Given the description of an element on the screen output the (x, y) to click on. 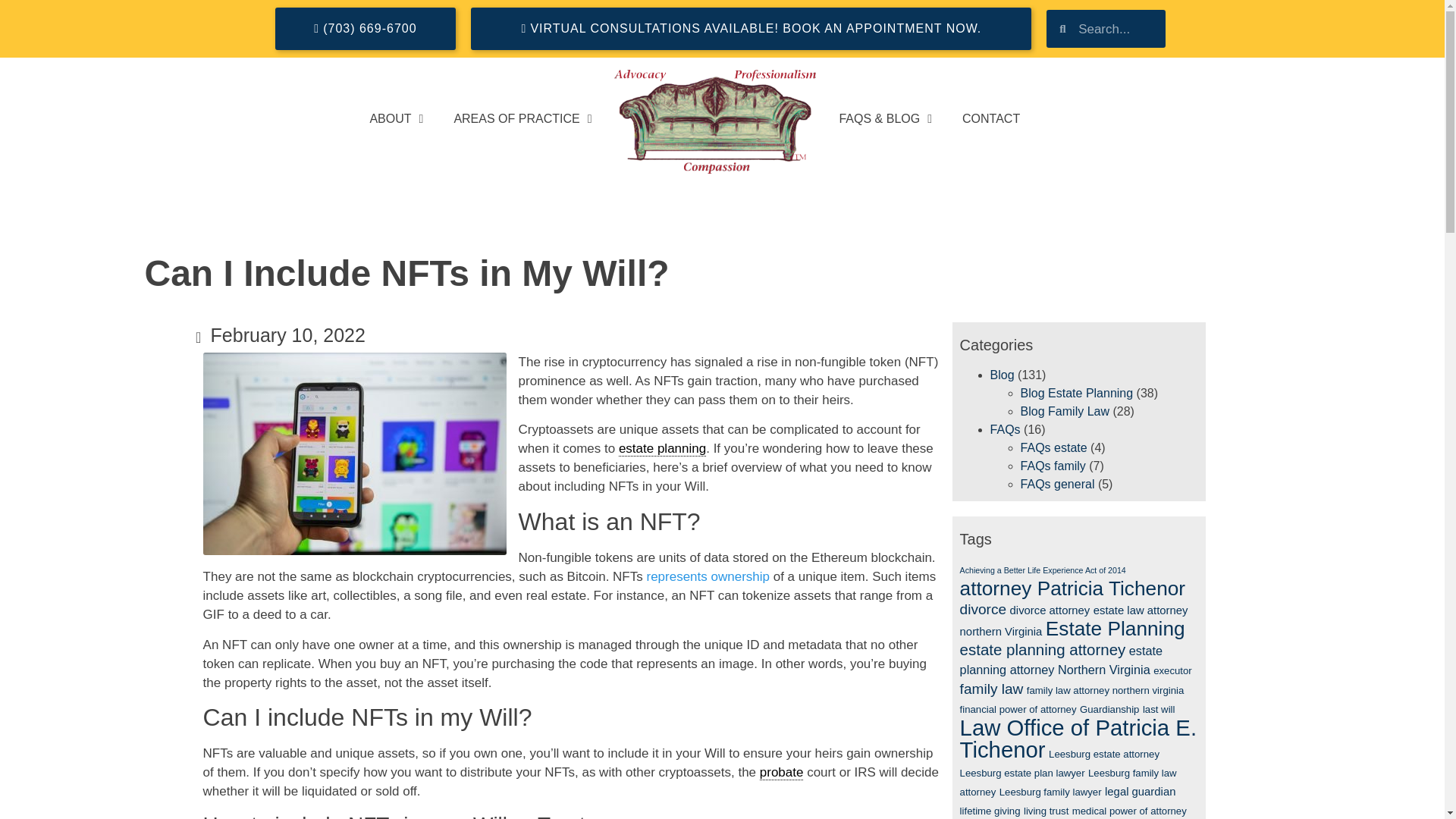
AREAS OF PRACTICE (522, 118)
VIRTUAL CONSULTATIONS AVAILABLE! BOOK AN APPOINTMENT NOW. (750, 28)
ABOUT (395, 118)
